Given the description of an element on the screen output the (x, y) to click on. 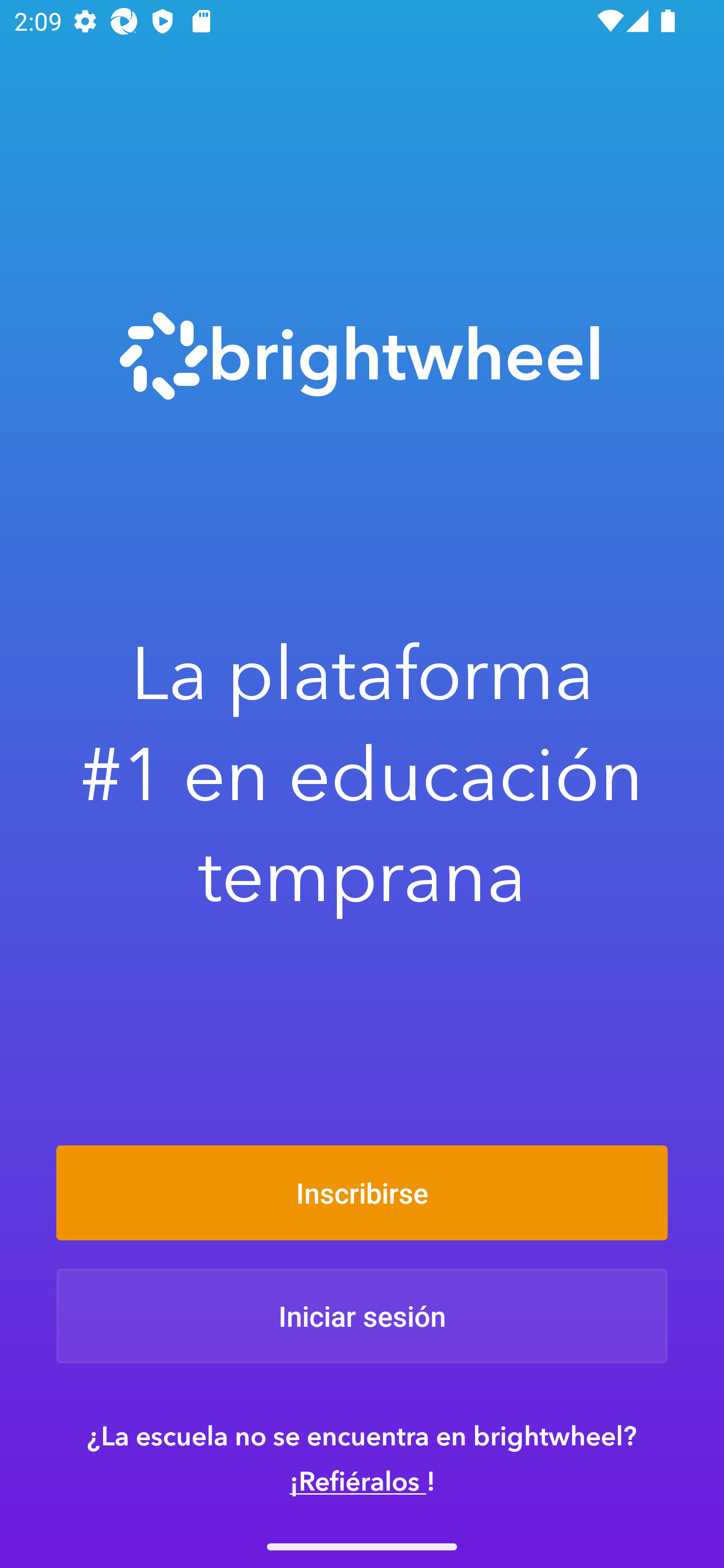
Inscribirse (361, 1192)
Iniciar sesión (361, 1316)
